Given the description of an element on the screen output the (x, y) to click on. 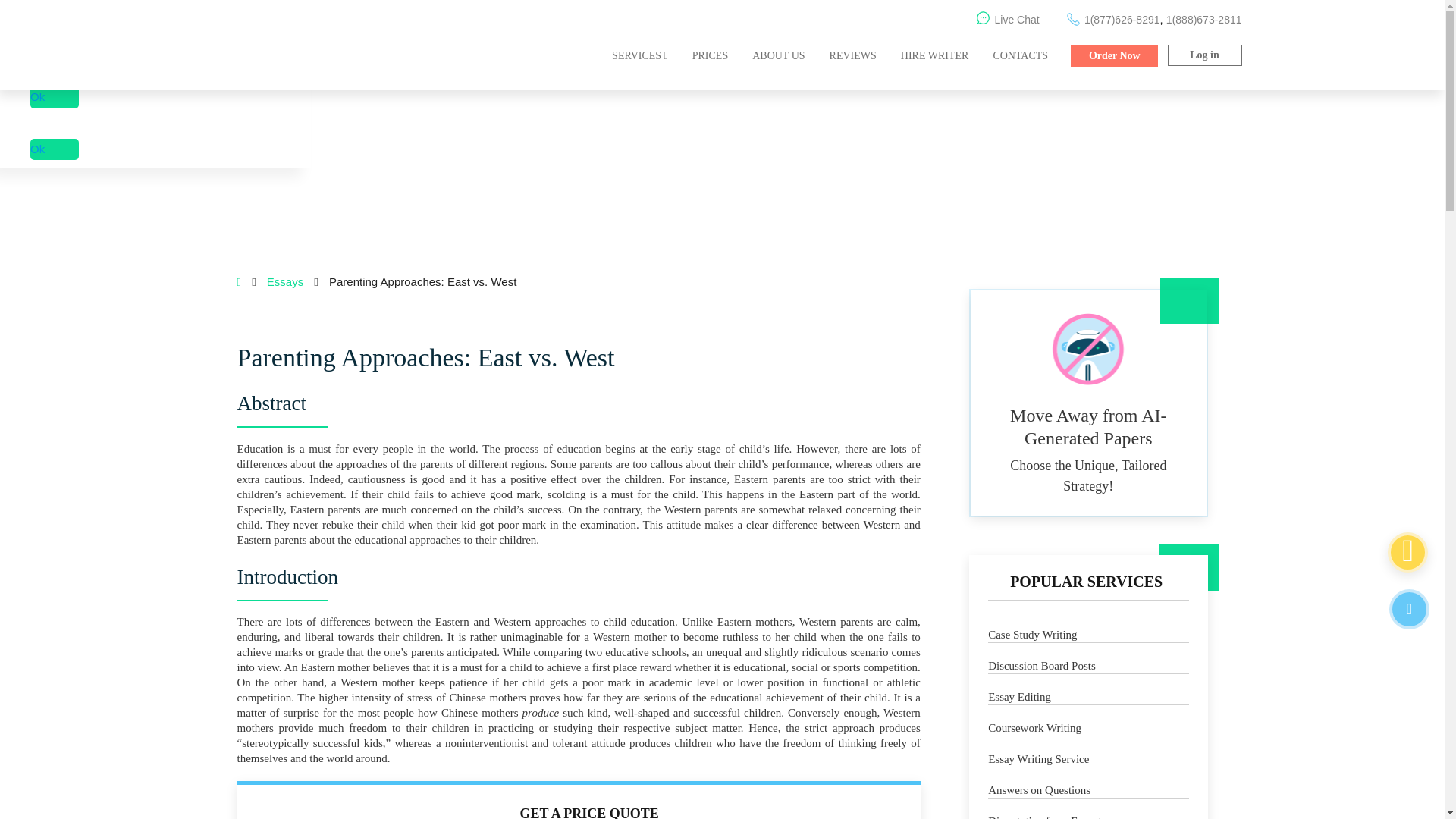
Live Chat (1409, 608)
Ok (54, 97)
READ MORE (1409, 17)
Ok (54, 148)
